Given the description of an element on the screen output the (x, y) to click on. 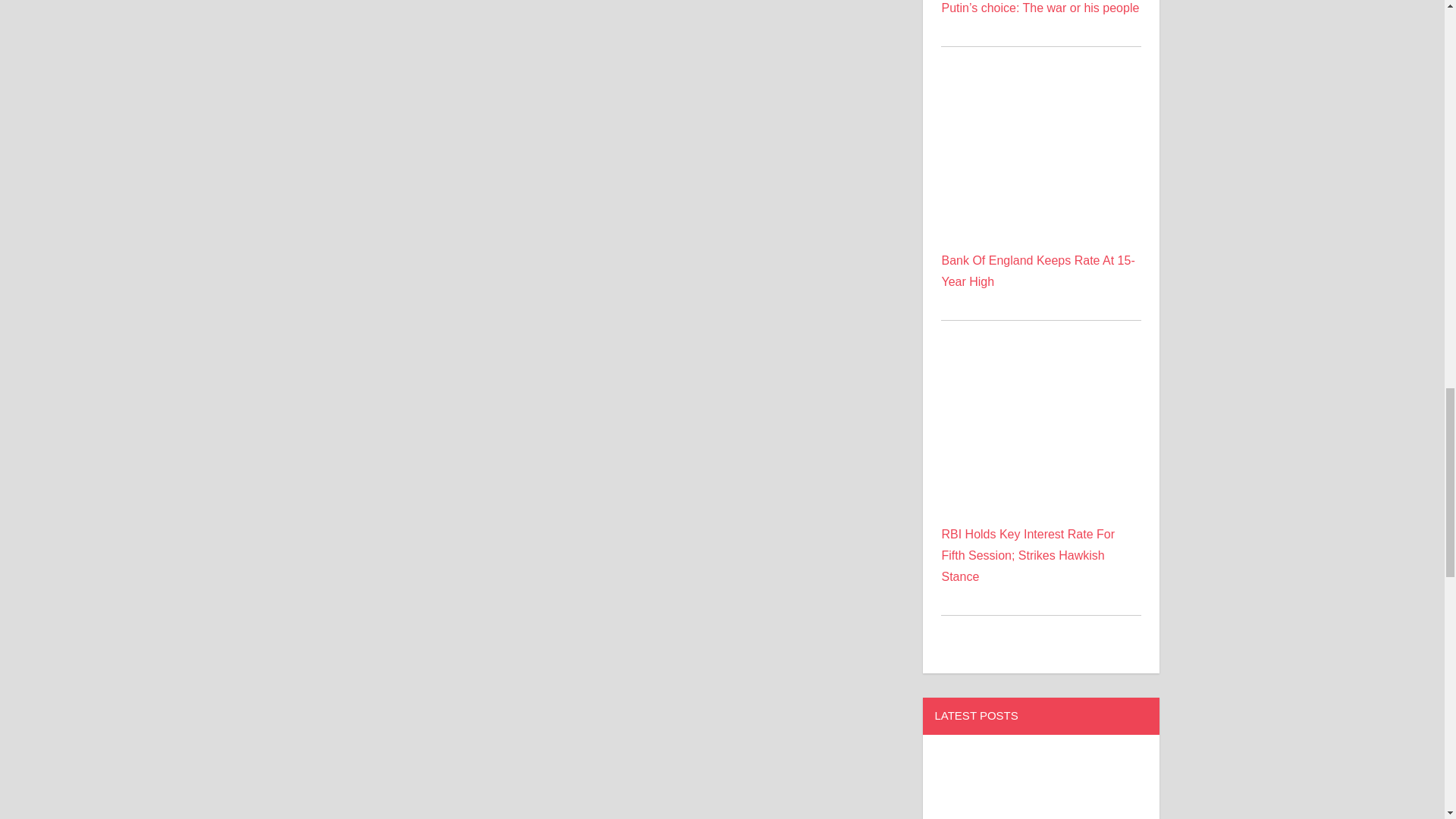
Bank Of England Keeps Rate At 15-Year High (1040, 157)
Bank Of England Keeps Rate At 15-Year High (1040, 96)
Bank Of England Keeps Rate At 15-Year High (1037, 270)
